Given the description of an element on the screen output the (x, y) to click on. 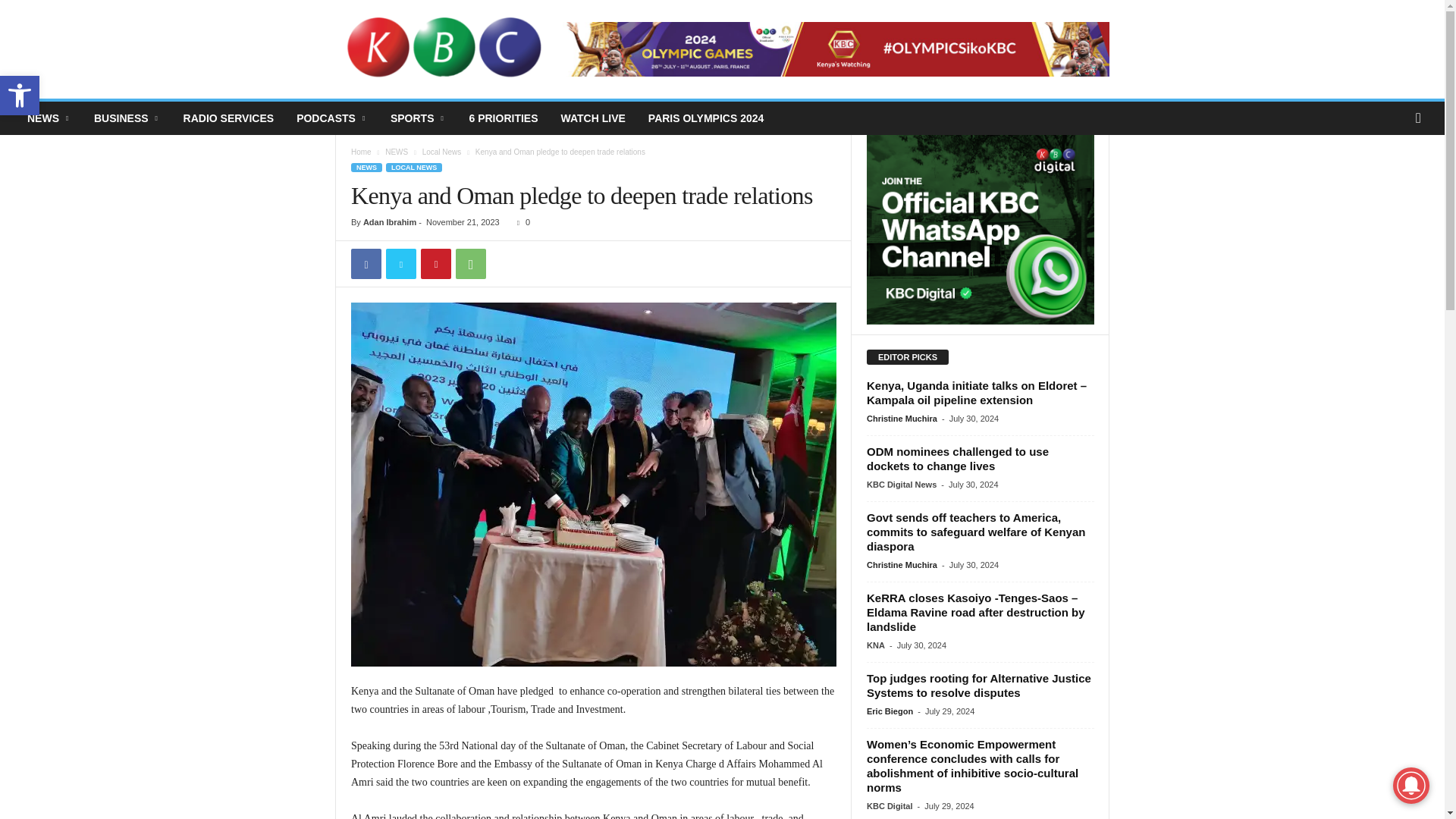
Accessibility Tools (19, 95)
Accessibility Tools (19, 95)
